Given the description of an element on the screen output the (x, y) to click on. 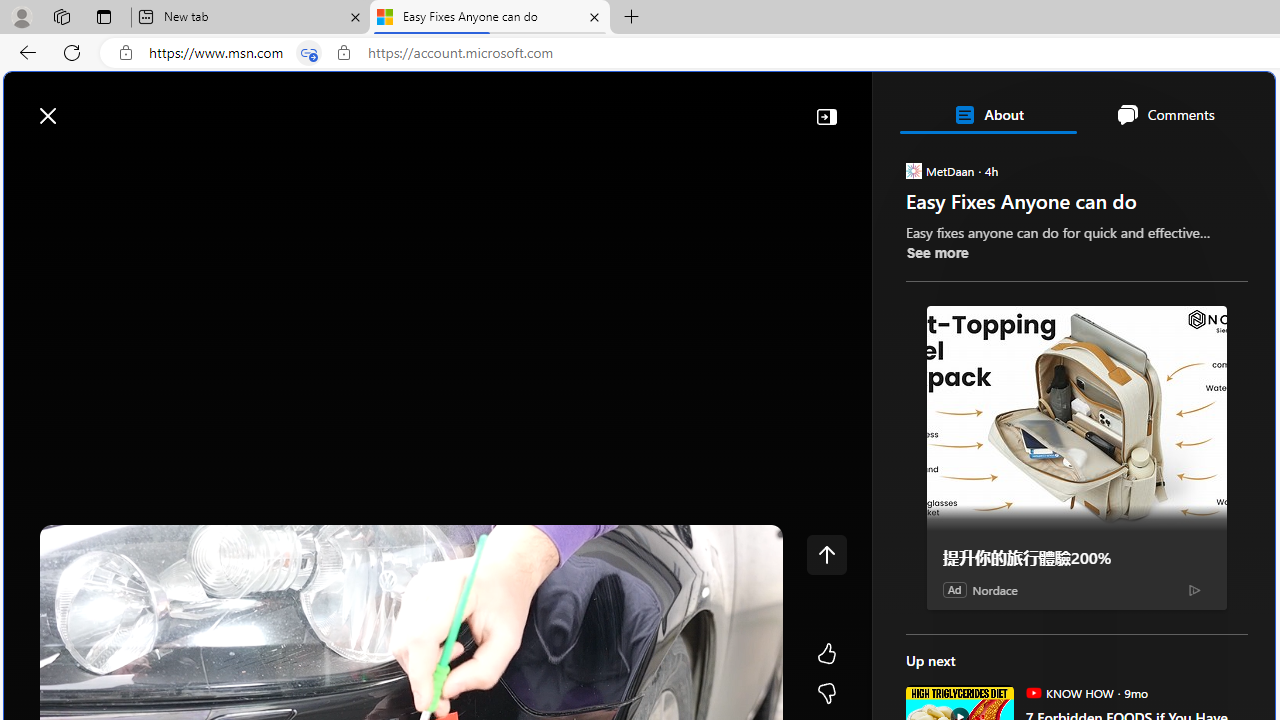
About (987, 114)
Web search (283, 105)
Comments (1165, 114)
Skip to footer (82, 105)
The Associated Press (974, 645)
Enter your search term (644, 106)
